Given the description of an element on the screen output the (x, y) to click on. 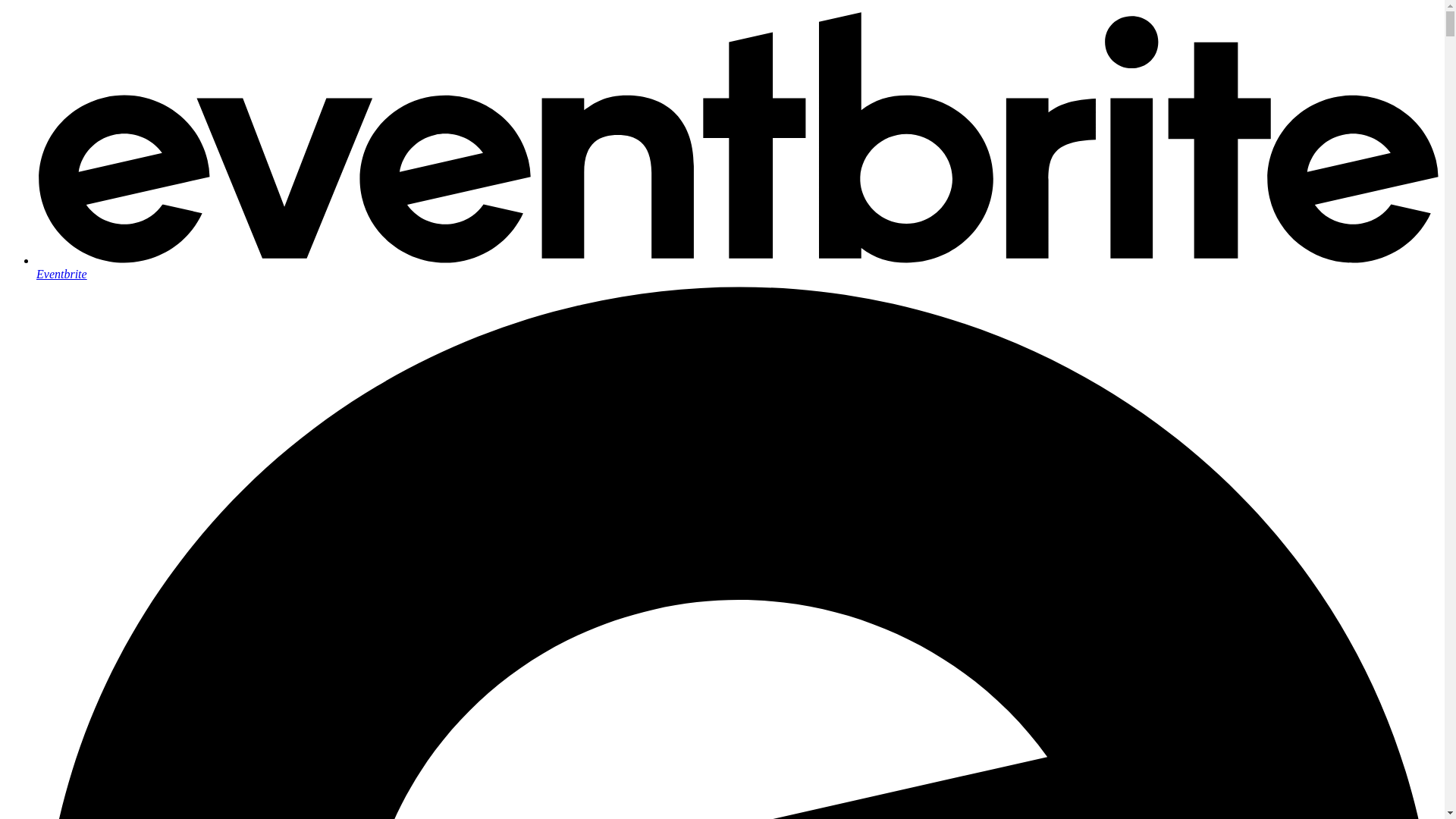
Eventbrite Element type: text (737, 267)
